Given the description of an element on the screen output the (x, y) to click on. 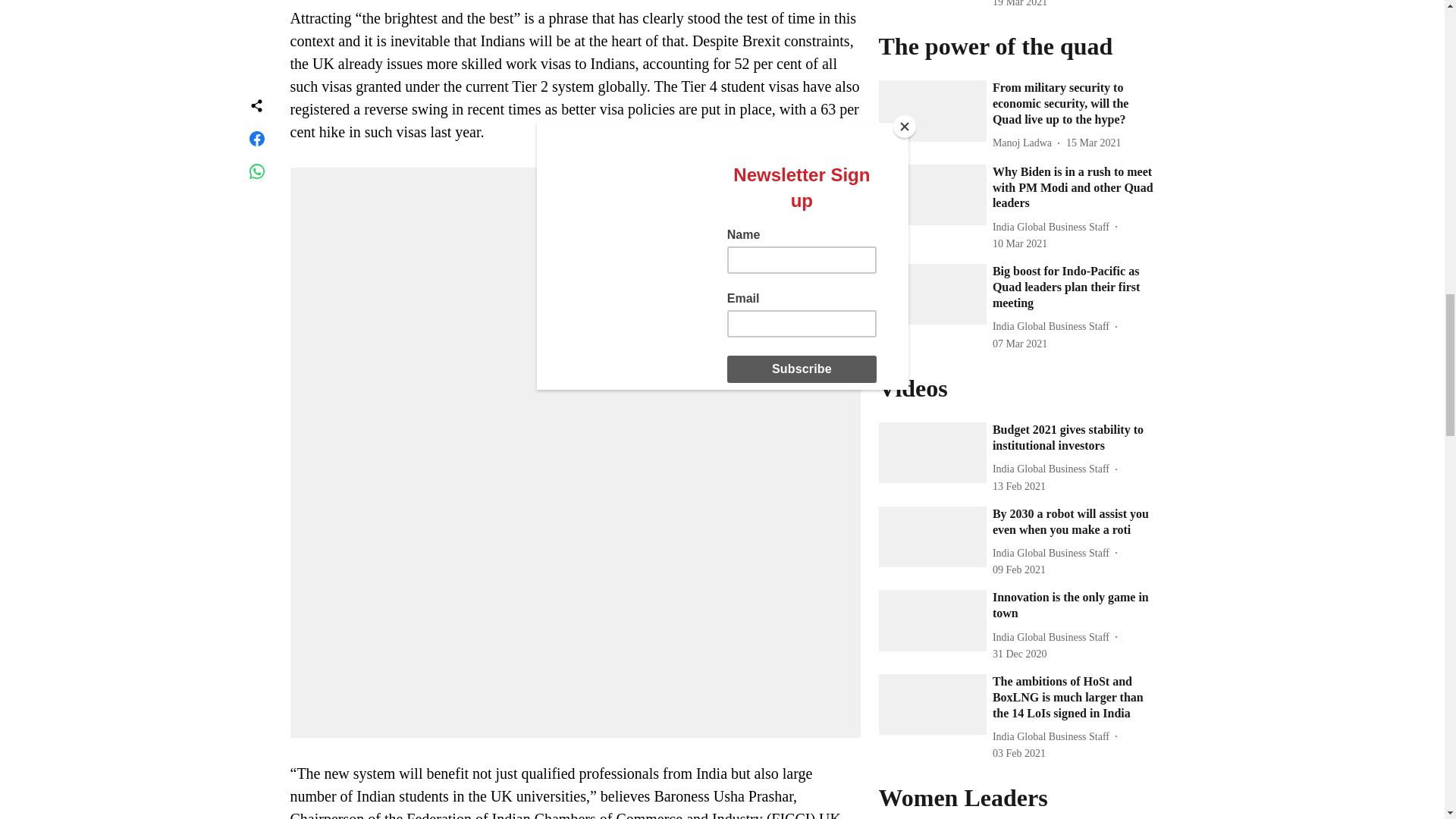
2021-02-09 07:31 (1018, 569)
2020-12-31 05:29 (1019, 653)
2021-02-13 07:35 (1018, 486)
2021-03-10 10:15 (1019, 243)
2021-03-15 13:56 (1093, 142)
2021-03-19 10:10 (1019, 4)
2021-02-03 05:51 (1018, 753)
2021-03-07 07:09 (1019, 343)
